Given the description of an element on the screen output the (x, y) to click on. 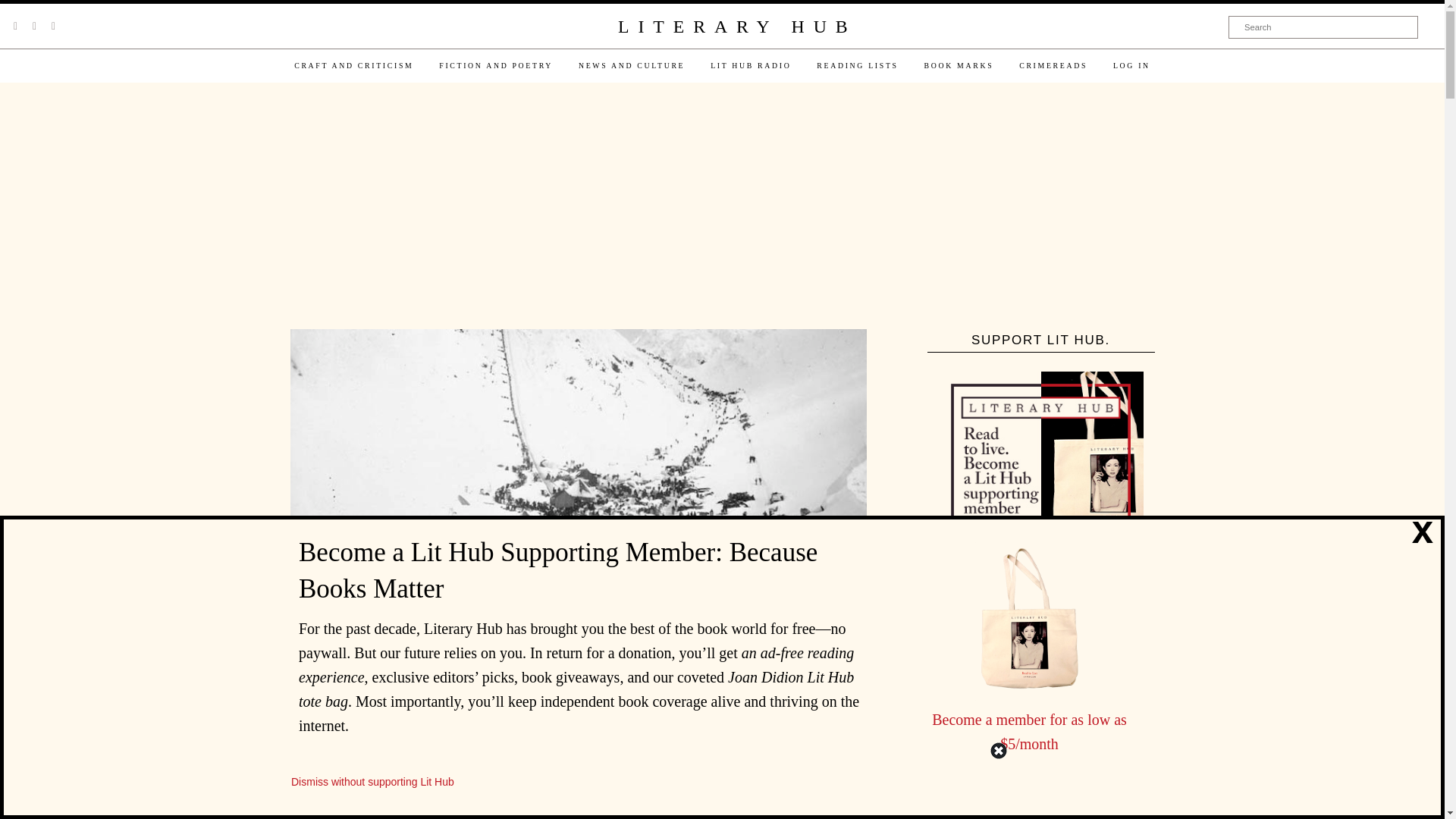
CRAFT AND CRITICISM (353, 65)
NEWS AND CULTURE (631, 65)
FICTION AND POETRY (496, 65)
Support Lit Hub. (1040, 473)
LITERARY HUB (736, 26)
Search (1323, 26)
